Given the description of an element on the screen output the (x, y) to click on. 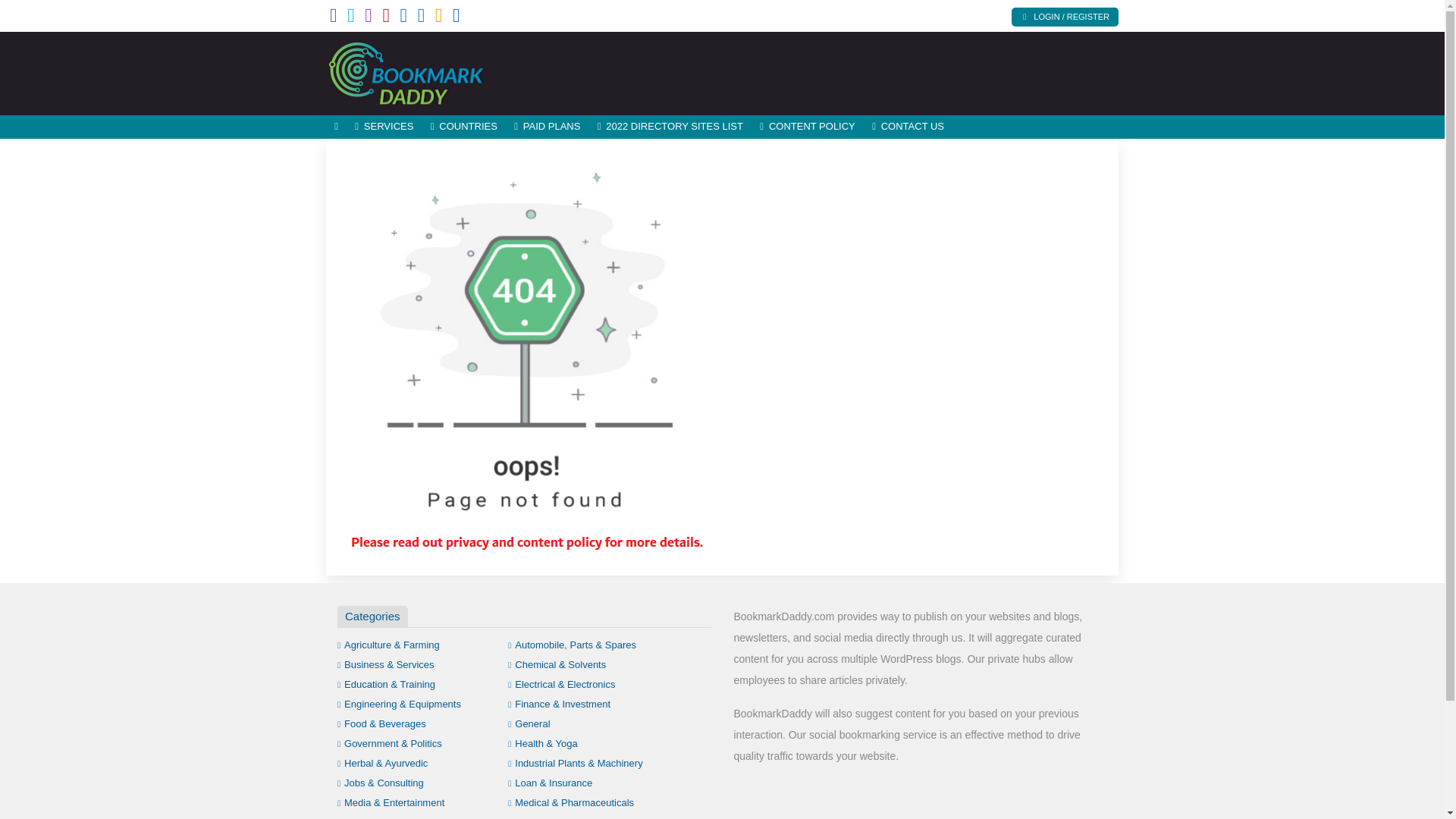
General (529, 723)
PAID PLANS (547, 126)
CONTENT POLICY (807, 126)
CONTACT US (907, 126)
2022 DIRECTORY SITES LIST (670, 126)
COUNTRIES (463, 126)
SERVICES (384, 126)
